Given the description of an element on the screen output the (x, y) to click on. 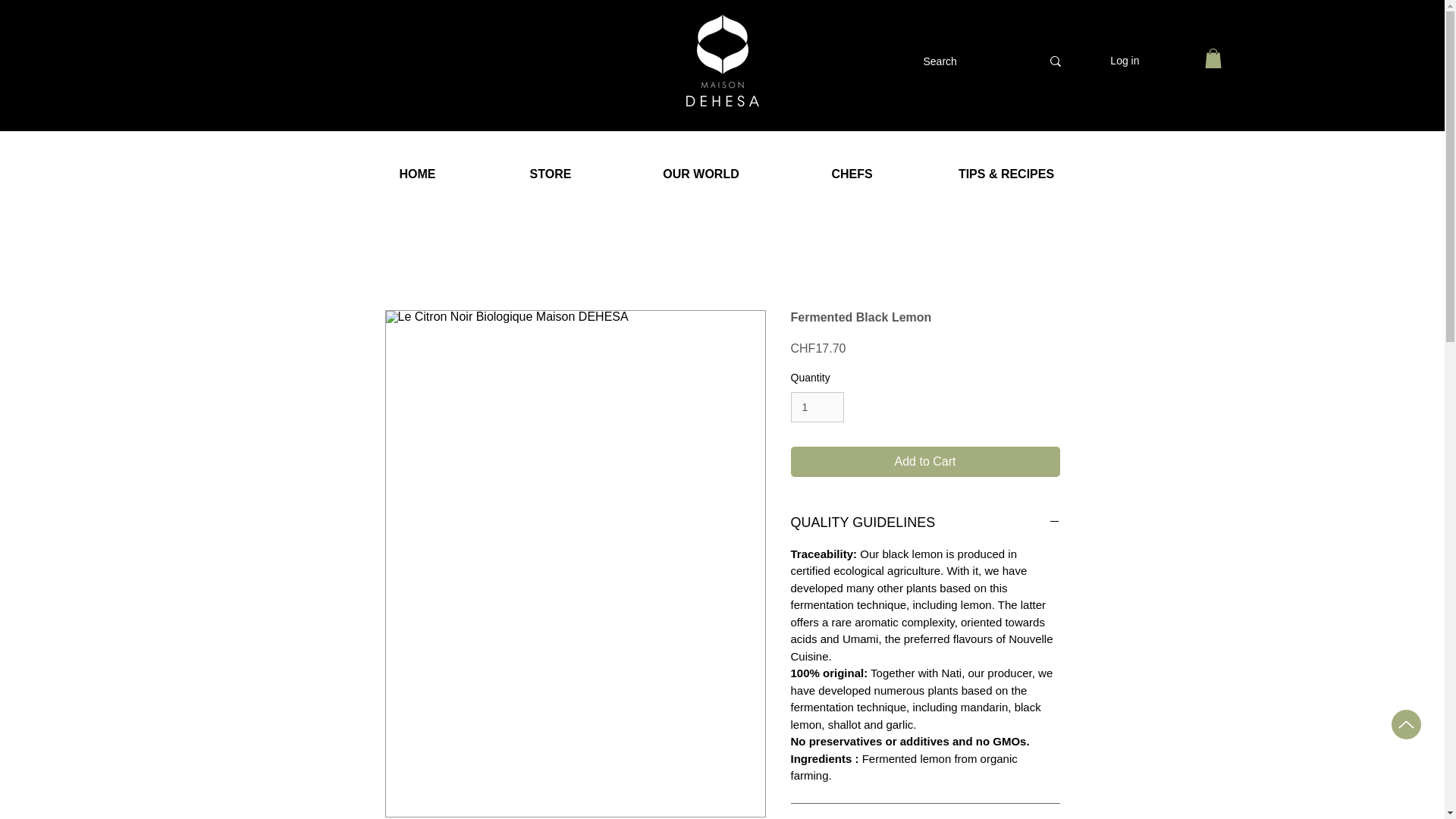
CHEFS (852, 173)
1 (817, 407)
OUR WORLD (701, 173)
HOME (416, 173)
Add to Cart (924, 461)
STORE (549, 173)
Log in (1124, 61)
QUALITY GUIDELINES (924, 522)
